Given the description of an element on the screen output the (x, y) to click on. 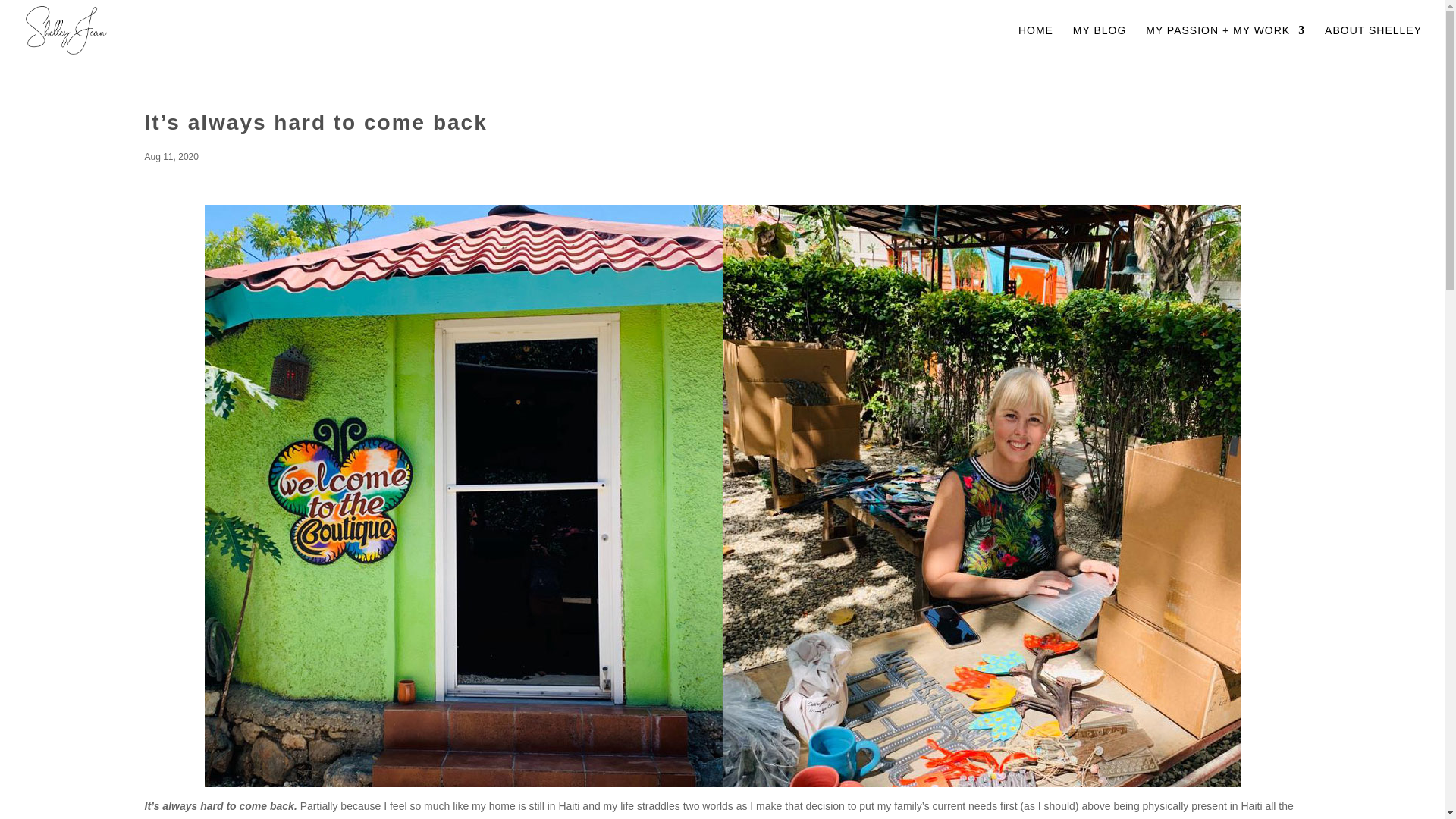
HOME (1034, 42)
MY BLOG (1099, 42)
ABOUT SHELLEY (1373, 42)
